Given the description of an element on the screen output the (x, y) to click on. 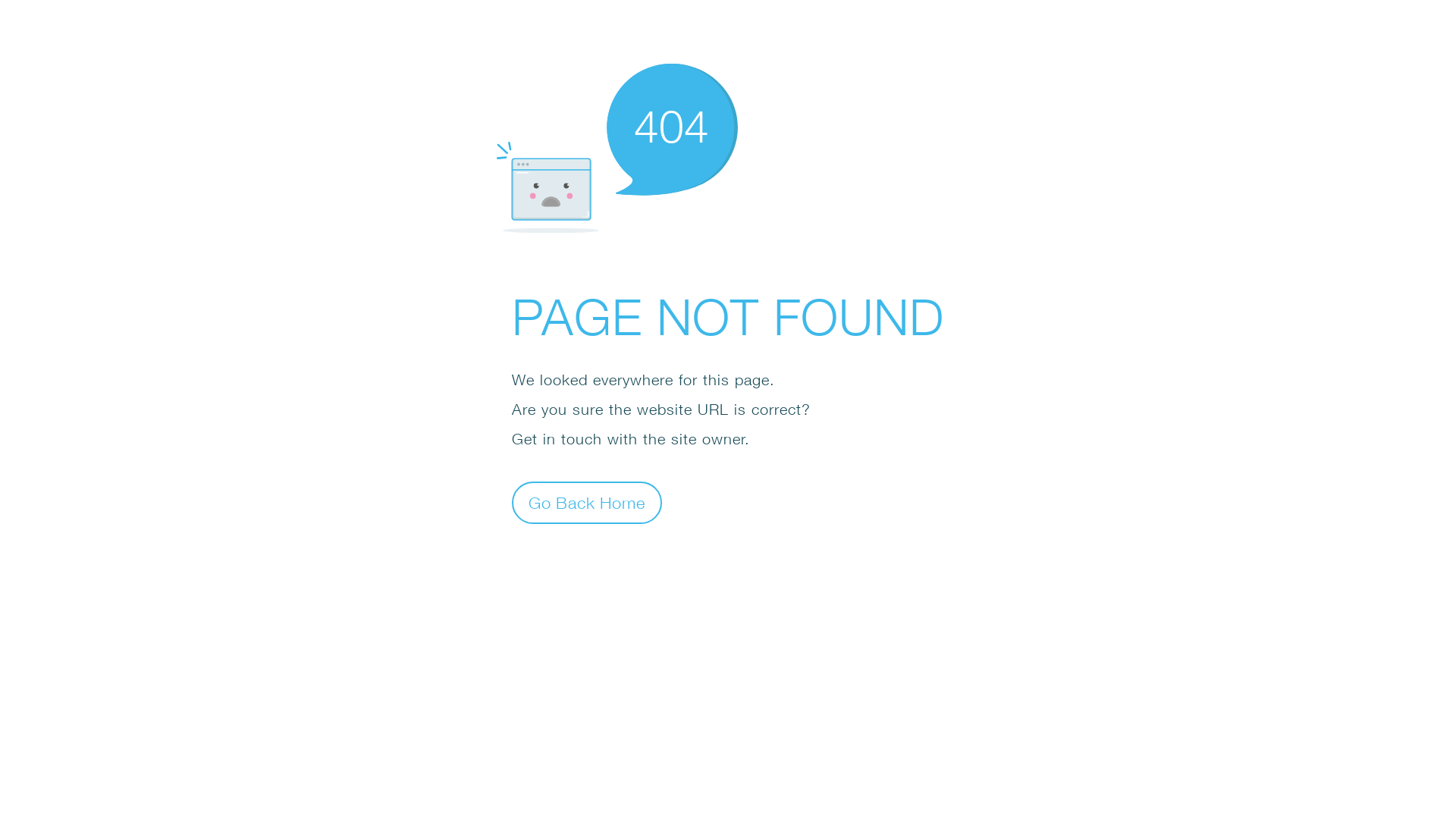
Go Back Home Element type: text (586, 502)
